Given the description of an element on the screen output the (x, y) to click on. 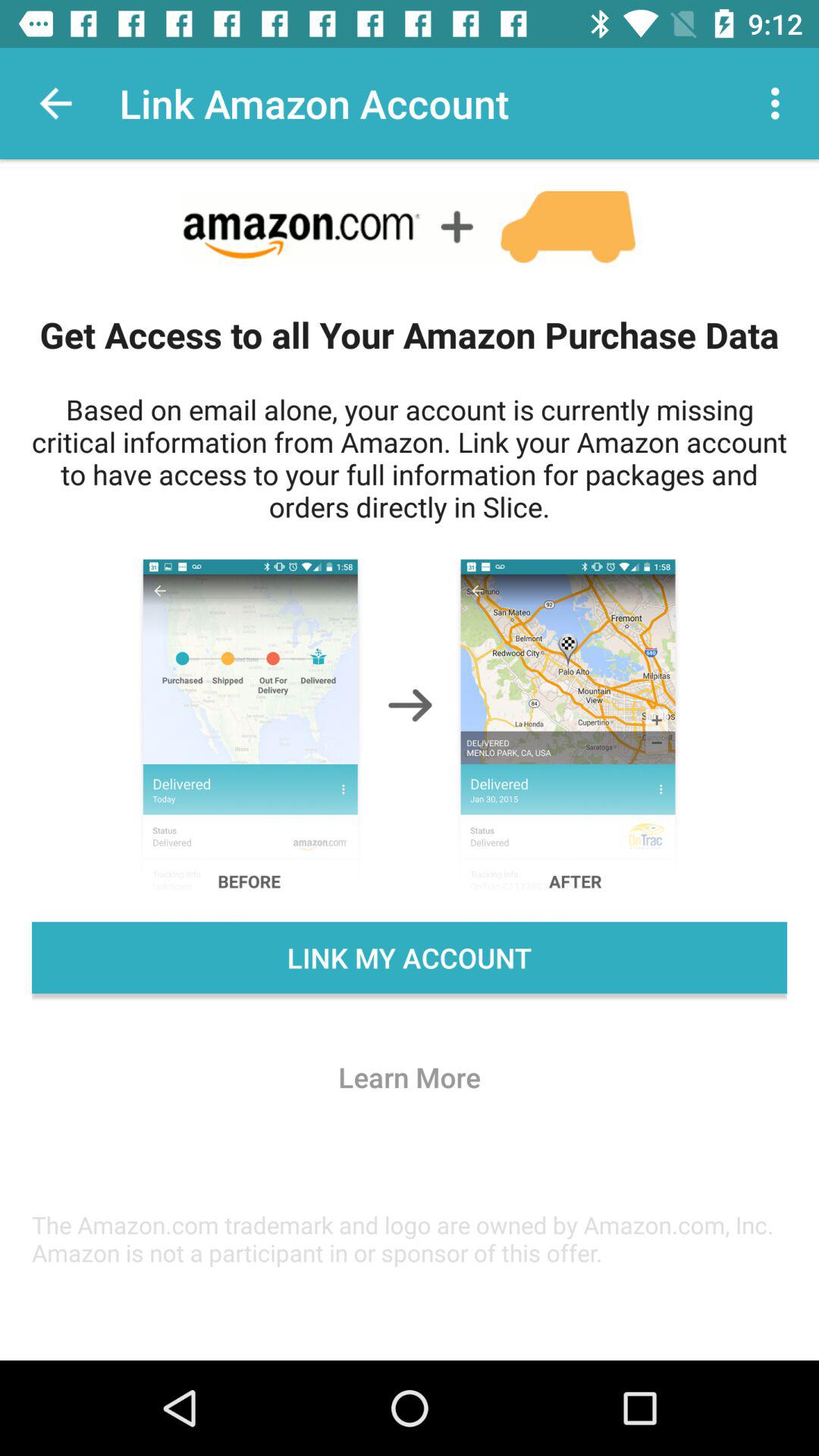
jump until the learn more icon (409, 1077)
